Given the description of an element on the screen output the (x, y) to click on. 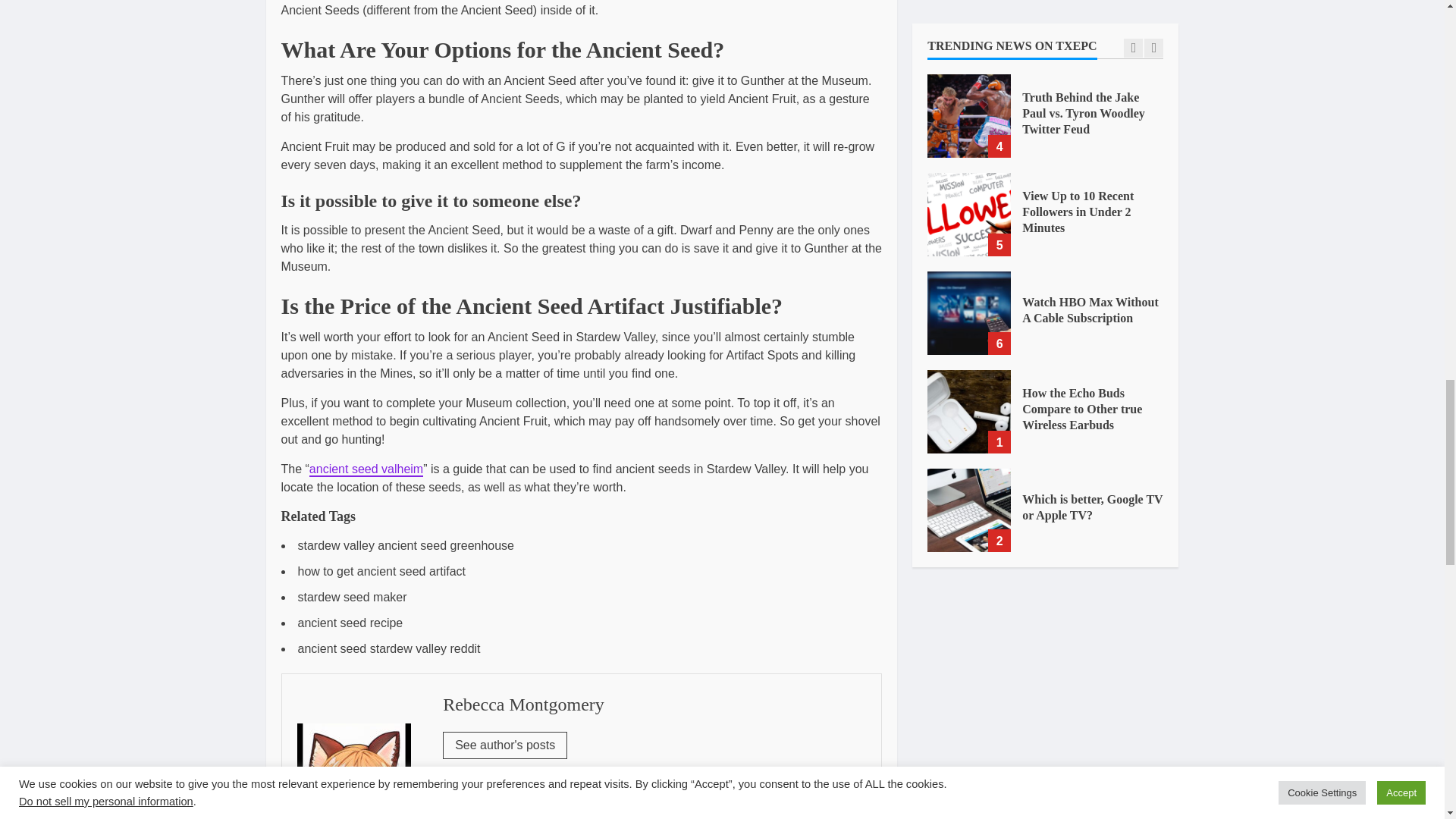
ancient seed valheim (365, 469)
Rebecca Montgomery (523, 704)
See author's posts (504, 745)
